Given the description of an element on the screen output the (x, y) to click on. 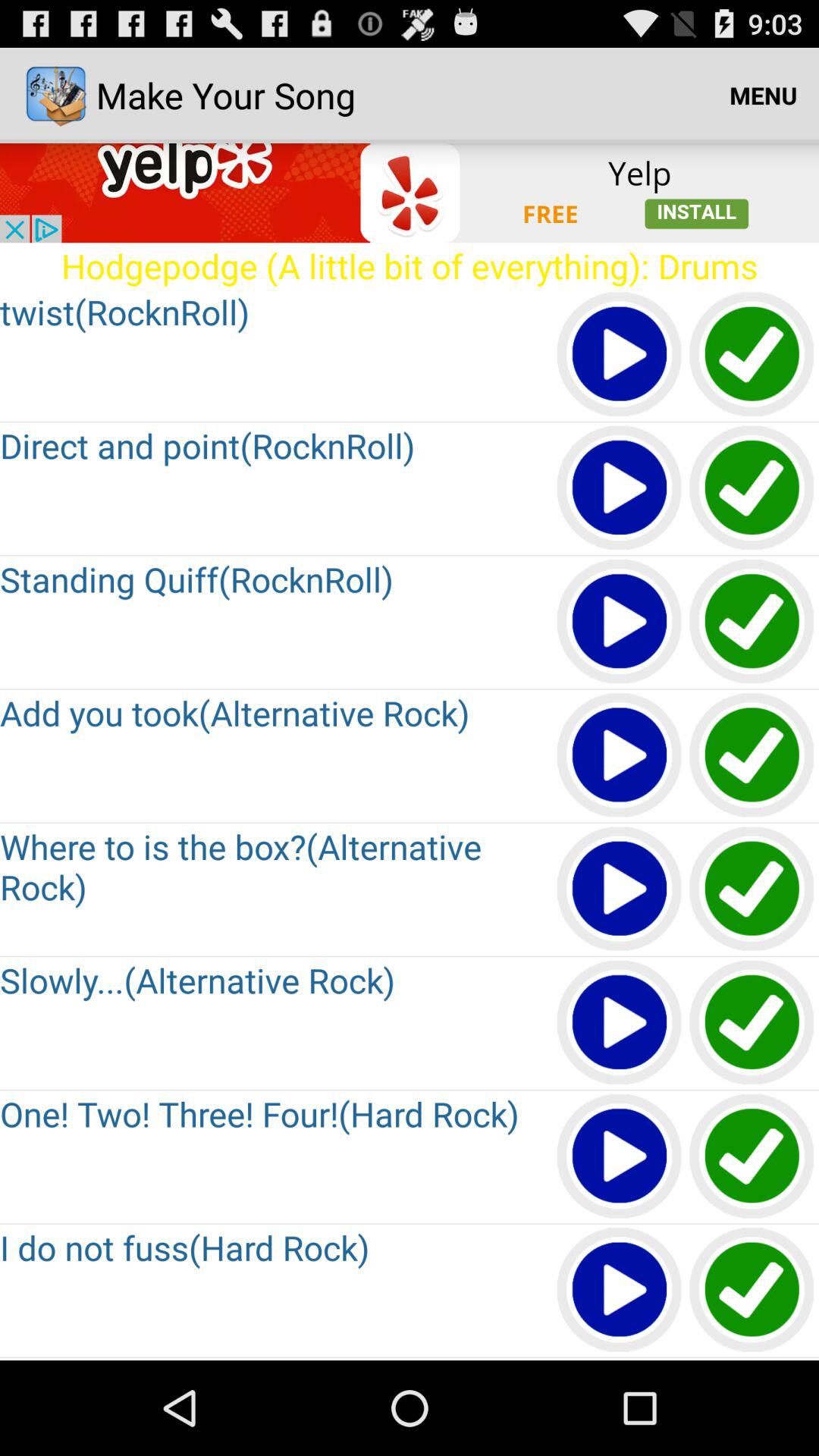
select sound (752, 622)
